Given the description of an element on the screen output the (x, y) to click on. 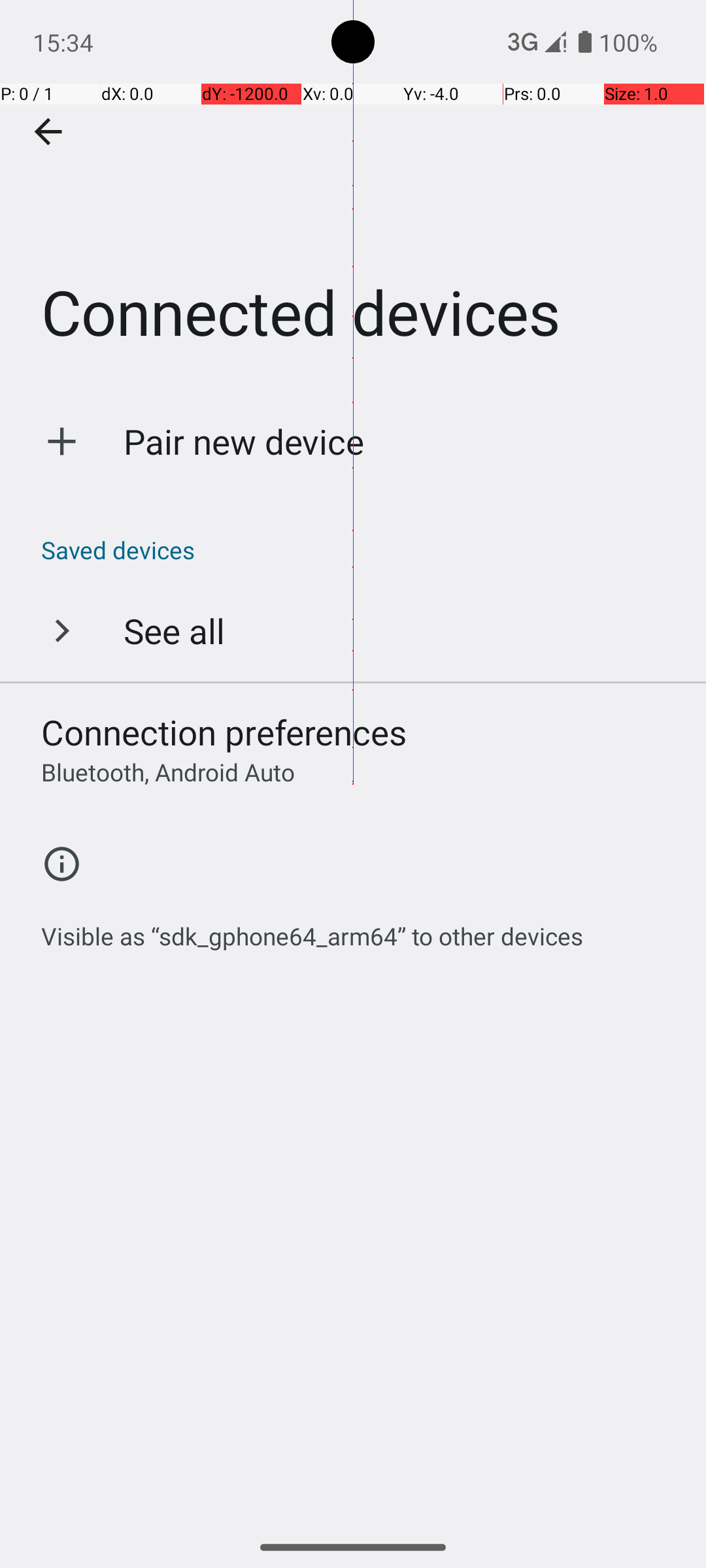
Pair new device Element type: android.widget.TextView (243, 441)
Saved devices Element type: android.widget.TextView (359, 549)
See all Element type: android.widget.TextView (173, 630)
Connection preferences Element type: android.widget.TextView (224, 731)
Bluetooth, Android Auto Element type: android.widget.TextView (167, 771)
Visible as “sdk_gphone64_arm64” to other devices Element type: android.widget.TextView (312, 928)
